Given the description of an element on the screen output the (x, y) to click on. 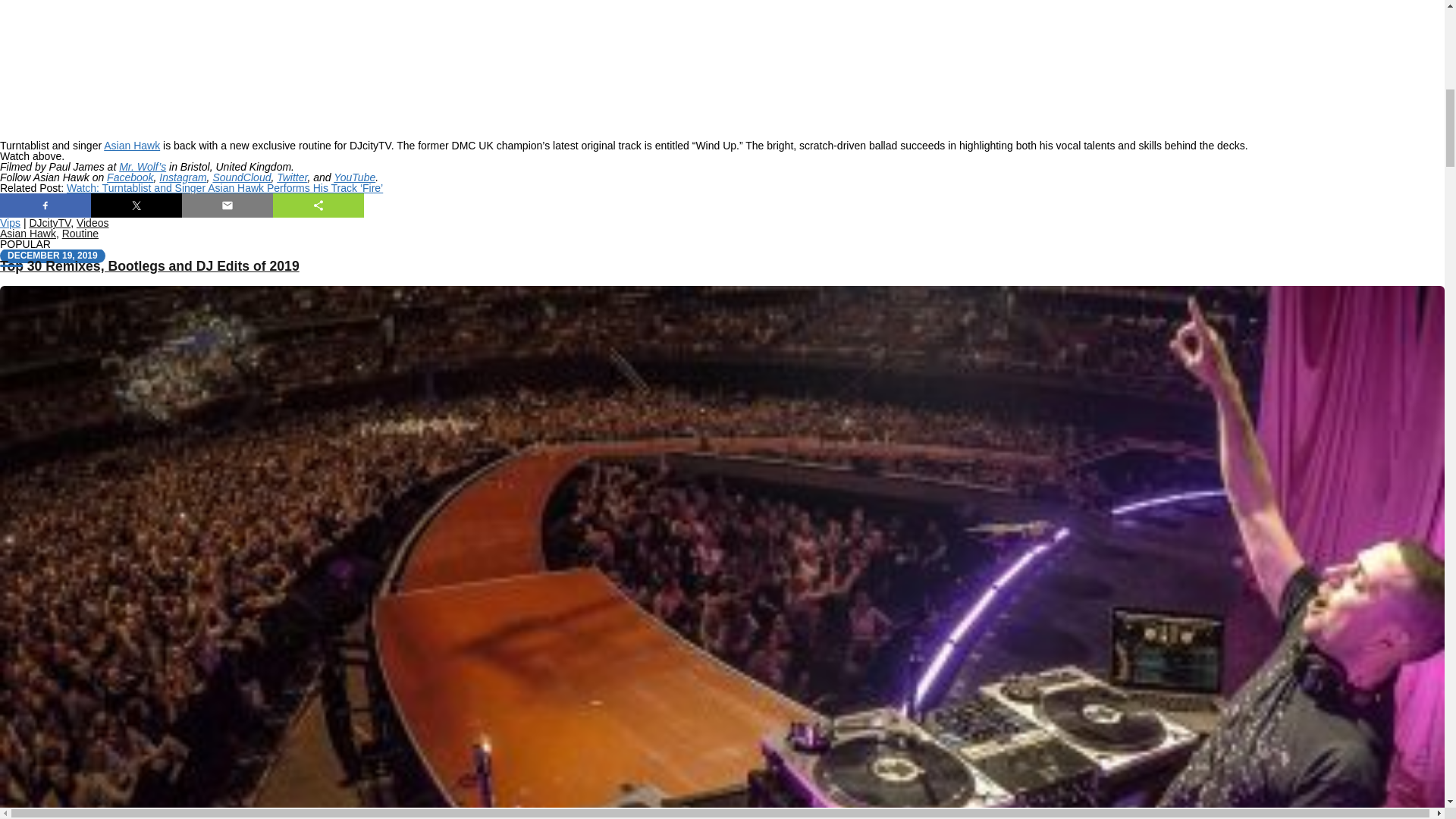
SoundCloud (241, 177)
Routine (80, 233)
Twitter (291, 177)
Instagram (182, 177)
Videos (93, 223)
Vips (10, 223)
Asian Hawk (28, 233)
Facebook (129, 177)
Asian Hawk (131, 145)
DJcityTV (49, 223)
Top 30 Remixes, Bootlegs and DJ Edits of 2019 (149, 265)
YouTube (354, 177)
Posts by Vips (10, 223)
